Given the description of an element on the screen output the (x, y) to click on. 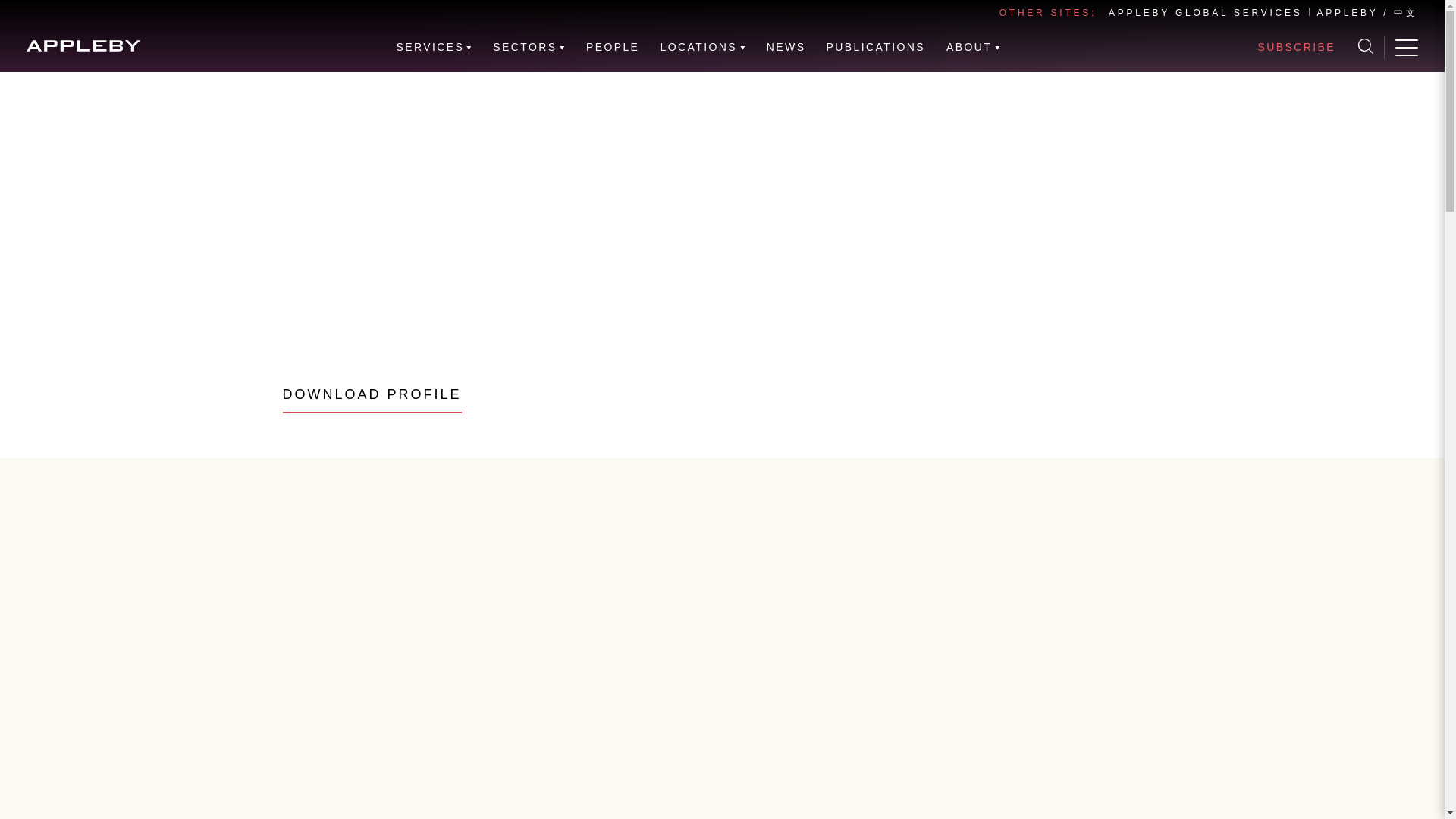
SERVICES (435, 47)
APPLEBY GLOBAL SERVICES (1204, 12)
SECTORS (529, 47)
